Given the description of an element on the screen output the (x, y) to click on. 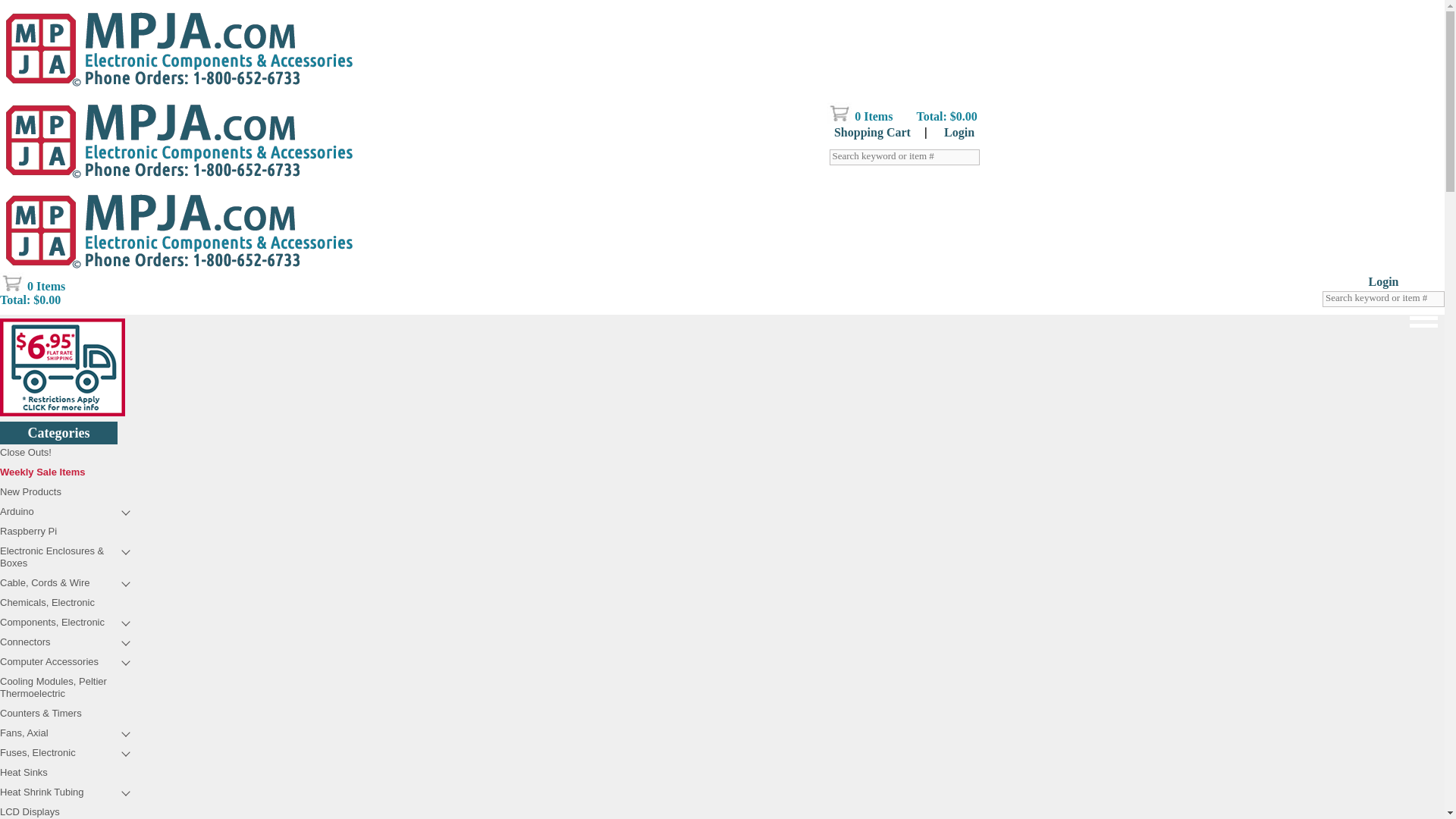
Login (159, 40)
Shop (50, 307)
Login (958, 132)
Login (958, 132)
Login (1382, 280)
Shopping Cart (872, 132)
Login (1382, 280)
Products (50, 307)
Shopping Cart (71, 40)
Login (159, 40)
